Given the description of an element on the screen output the (x, y) to click on. 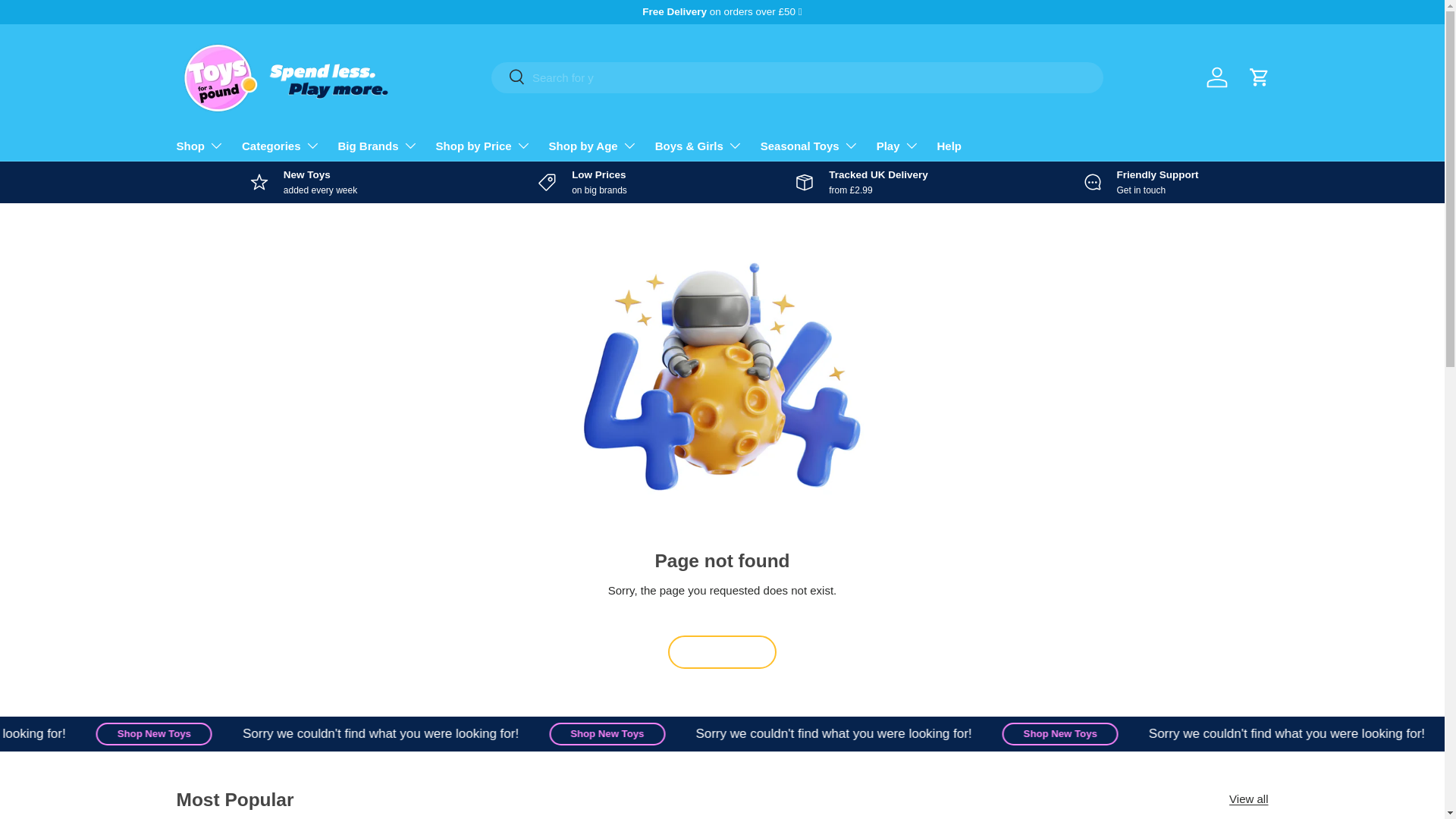
Log in (1216, 77)
Skip to content (69, 21)
Sorry we couldn't find what you were looking for! (921, 733)
Big Brands (377, 145)
Categories (280, 145)
Cart (1258, 77)
Search (508, 77)
Shop New Toys (696, 733)
